Given the description of an element on the screen output the (x, y) to click on. 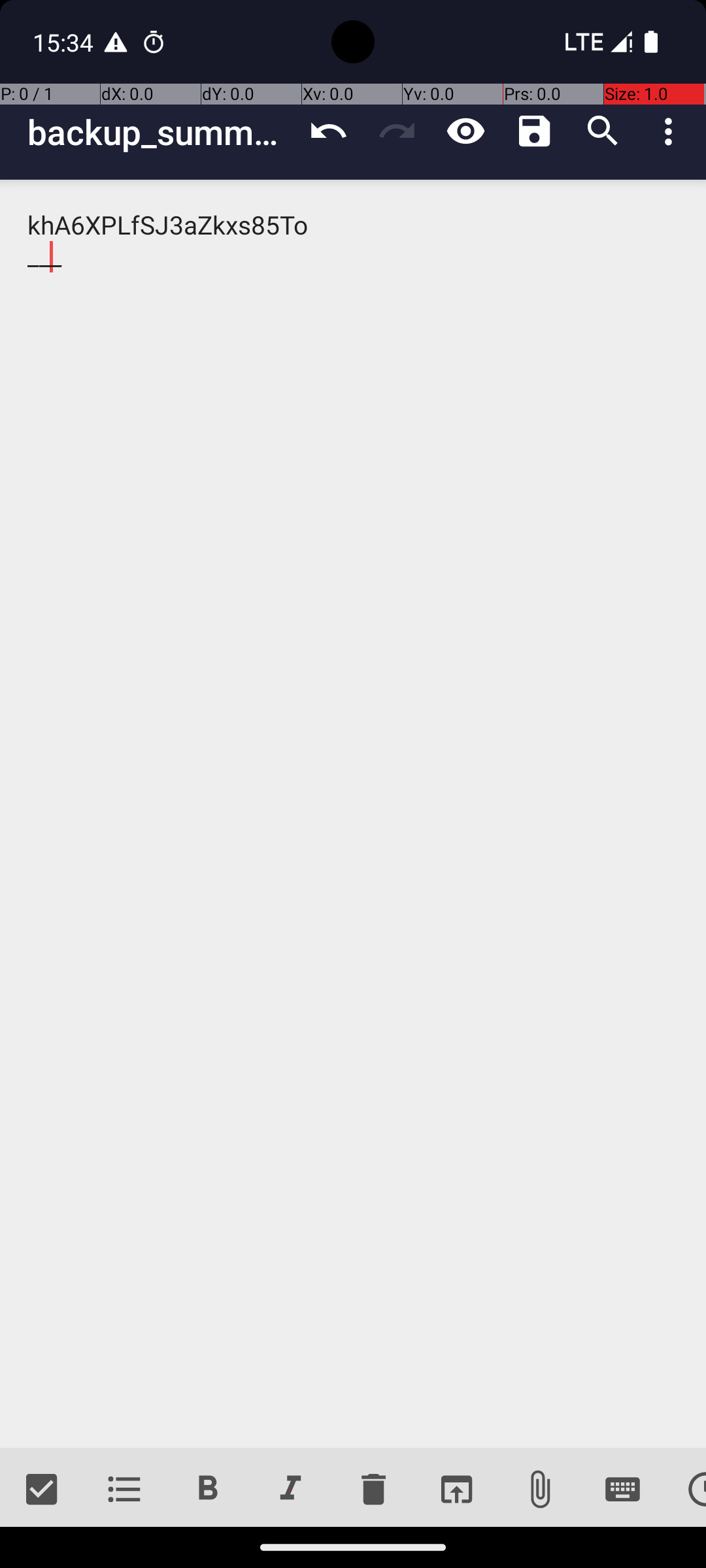
backup_summer_vacation_plans Element type: android.widget.TextView (160, 131)
khA6XPLfSJ3aZkxs85To
___ Element type: android.widget.EditText (353, 813)
